Given the description of an element on the screen output the (x, y) to click on. 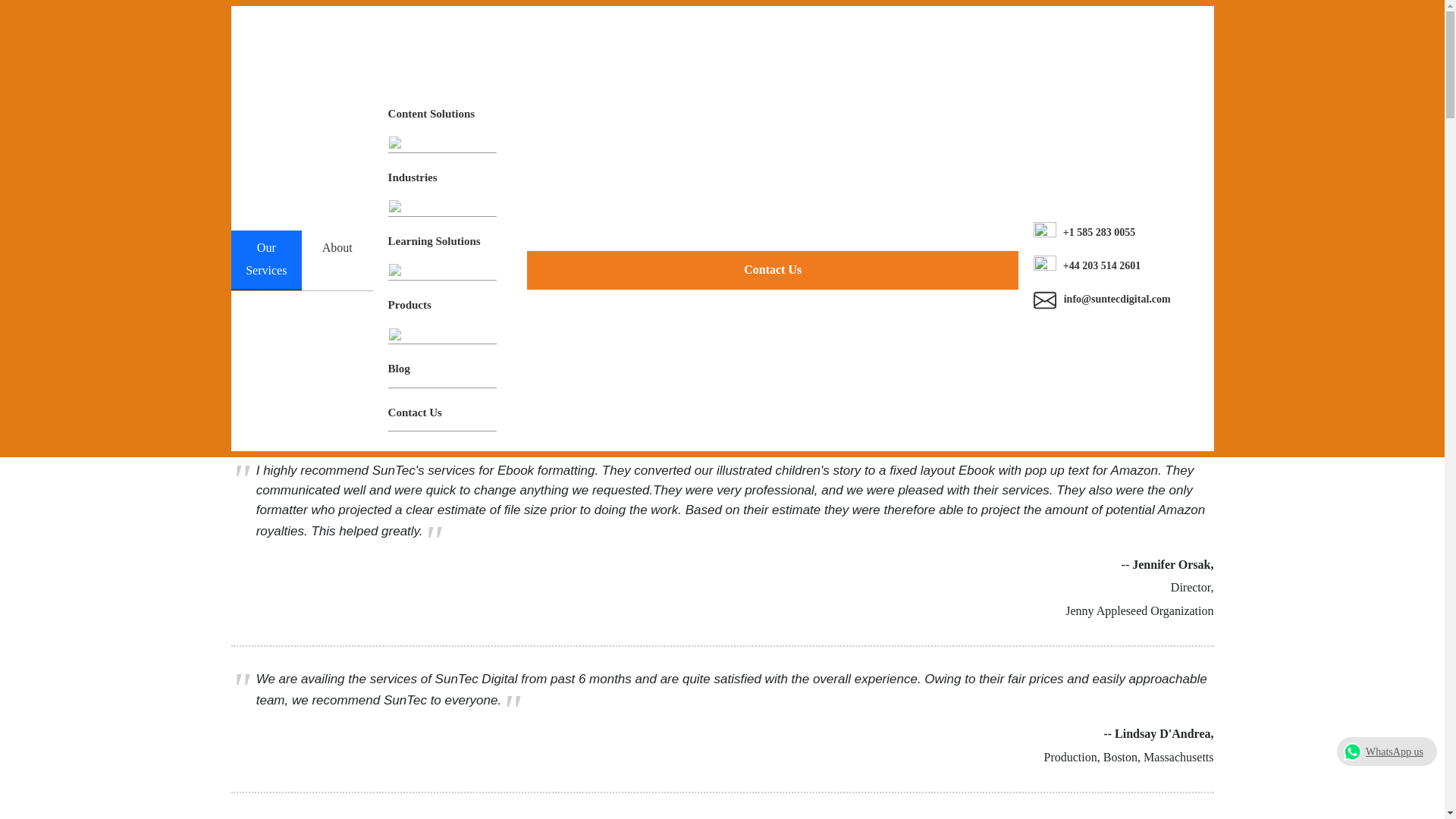
CONTENT SOLUTIONS (725, 109)
ABOUT US (602, 109)
UK Flag (777, 58)
BLOG (1068, 57)
INDUSTRIES (854, 109)
USA Flag (925, 58)
CONTACT US (1160, 57)
